Given the description of an element on the screen output the (x, y) to click on. 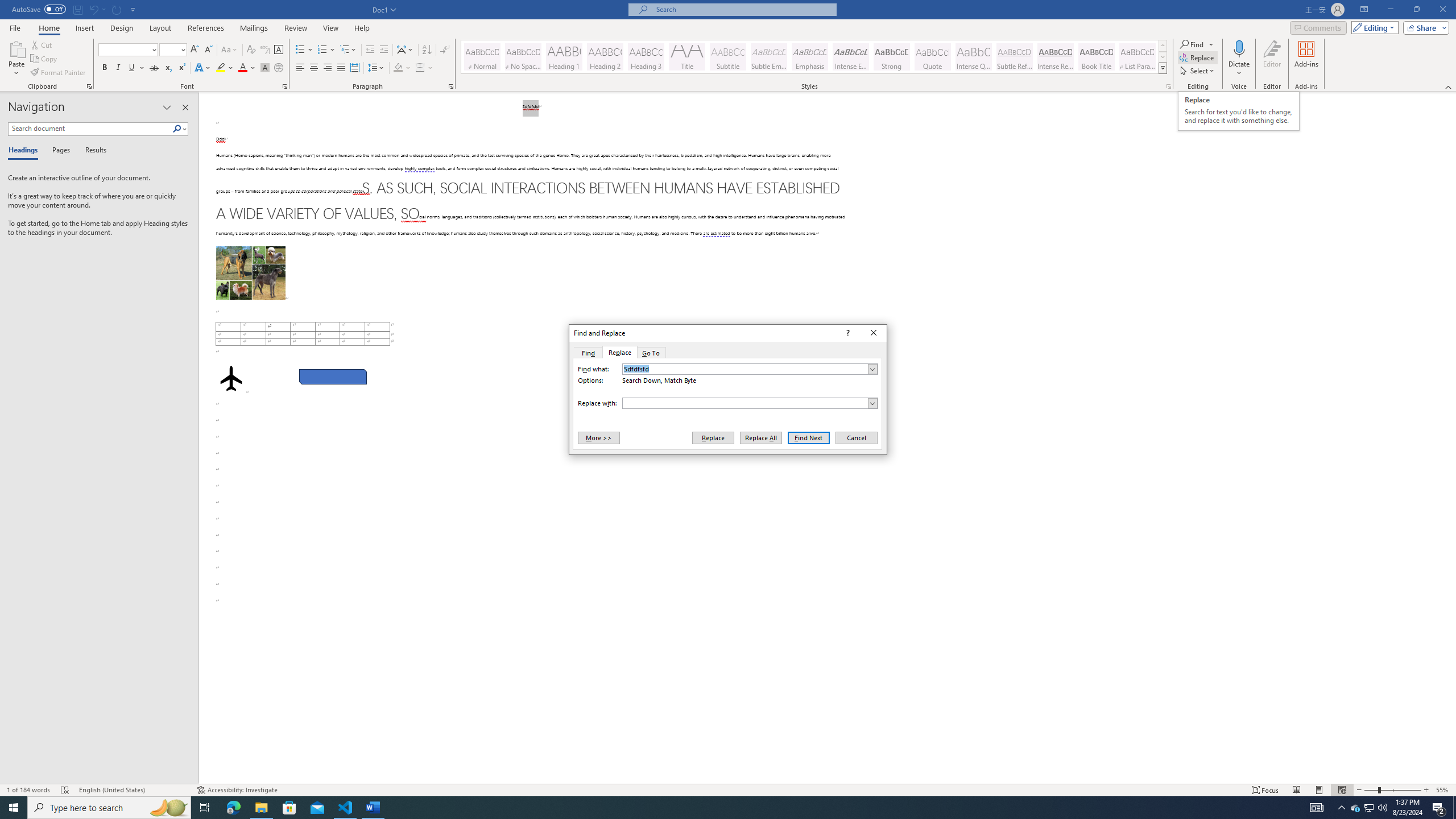
Replace All (761, 437)
Zoom 55% (1443, 790)
Font... (1368, 807)
Text Highlight Color Yellow (285, 85)
Airplane with solid fill (220, 67)
User Promoted Notification Area (230, 378)
Increase Indent (1368, 807)
Decrease Indent (383, 49)
